Given the description of an element on the screen output the (x, y) to click on. 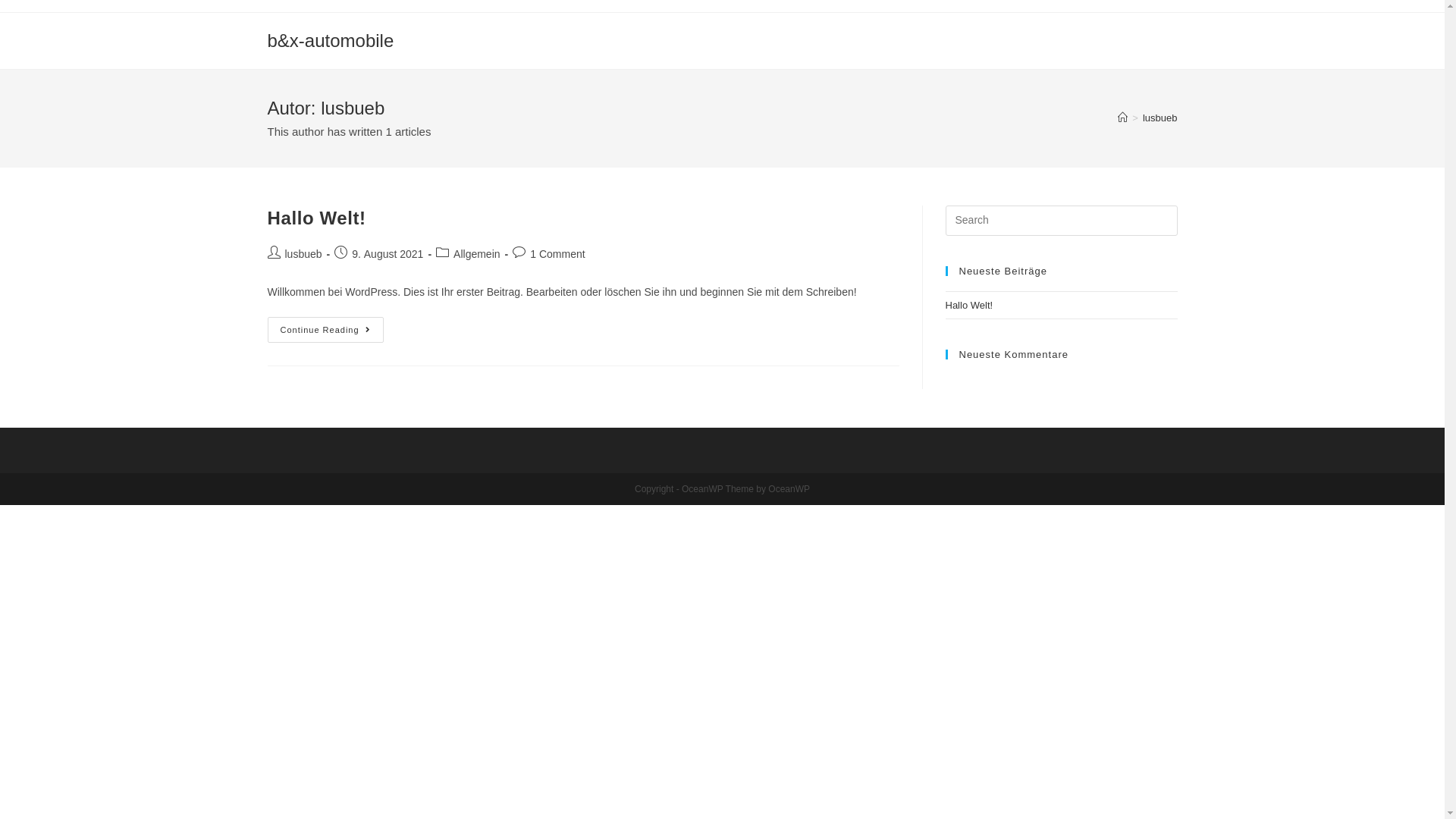
1 Comment Element type: text (557, 253)
b&x-automobile Element type: text (329, 40)
Continue Reading
Hallo Welt! Element type: text (324, 329)
lusbueb Element type: text (1159, 117)
lusbueb Element type: text (303, 253)
Hallo Welt! Element type: text (968, 304)
Allgemein Element type: text (476, 253)
Hallo Welt! Element type: text (315, 217)
